Given the description of an element on the screen output the (x, y) to click on. 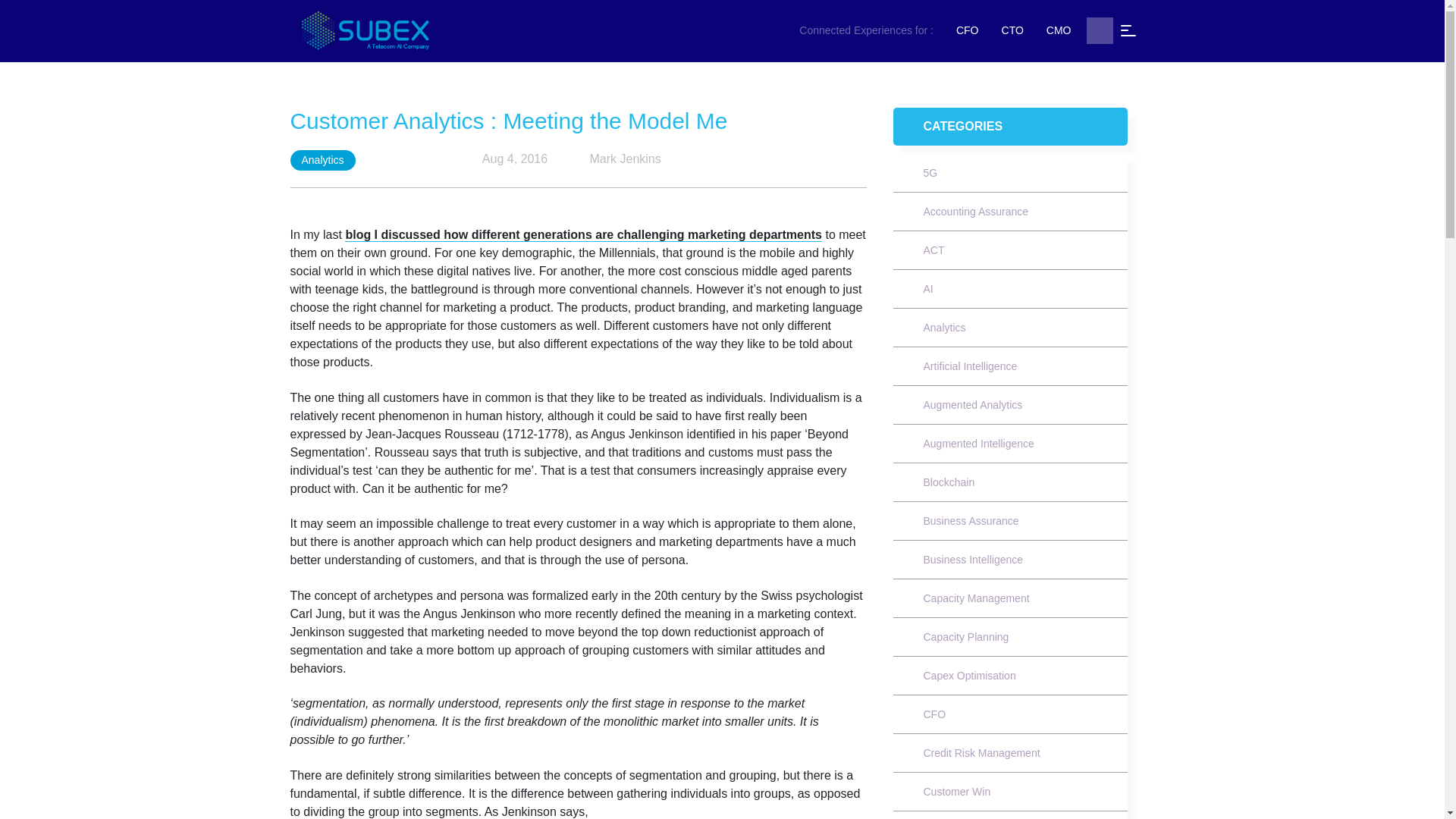
Analytics (944, 327)
Rechercher (1099, 30)
CTO (1012, 30)
Blockchain (949, 481)
Augmented Analytics (972, 404)
Credit Risk Management (981, 752)
Artificial Intelligence (970, 366)
AI (928, 288)
Capacity Planning (966, 636)
CFO (934, 714)
CFO (967, 30)
CMO (1058, 30)
Rechercher (1099, 30)
Accounting Assurance (976, 211)
